Given the description of an element on the screen output the (x, y) to click on. 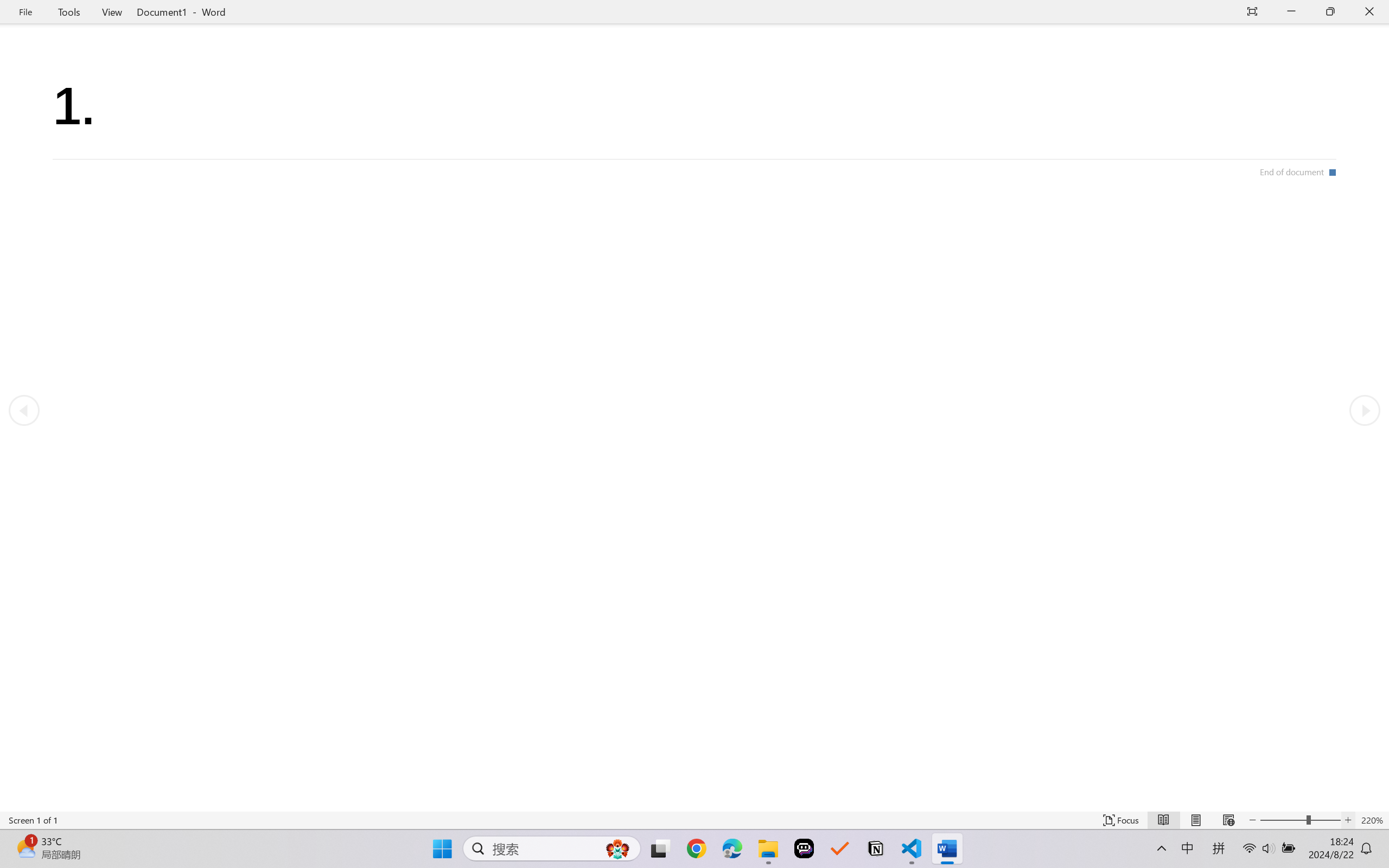
Page Number Screen 1 of 1  (32, 819)
Auto-hide Reading Toolbar (1252, 11)
